Given the description of an element on the screen output the (x, y) to click on. 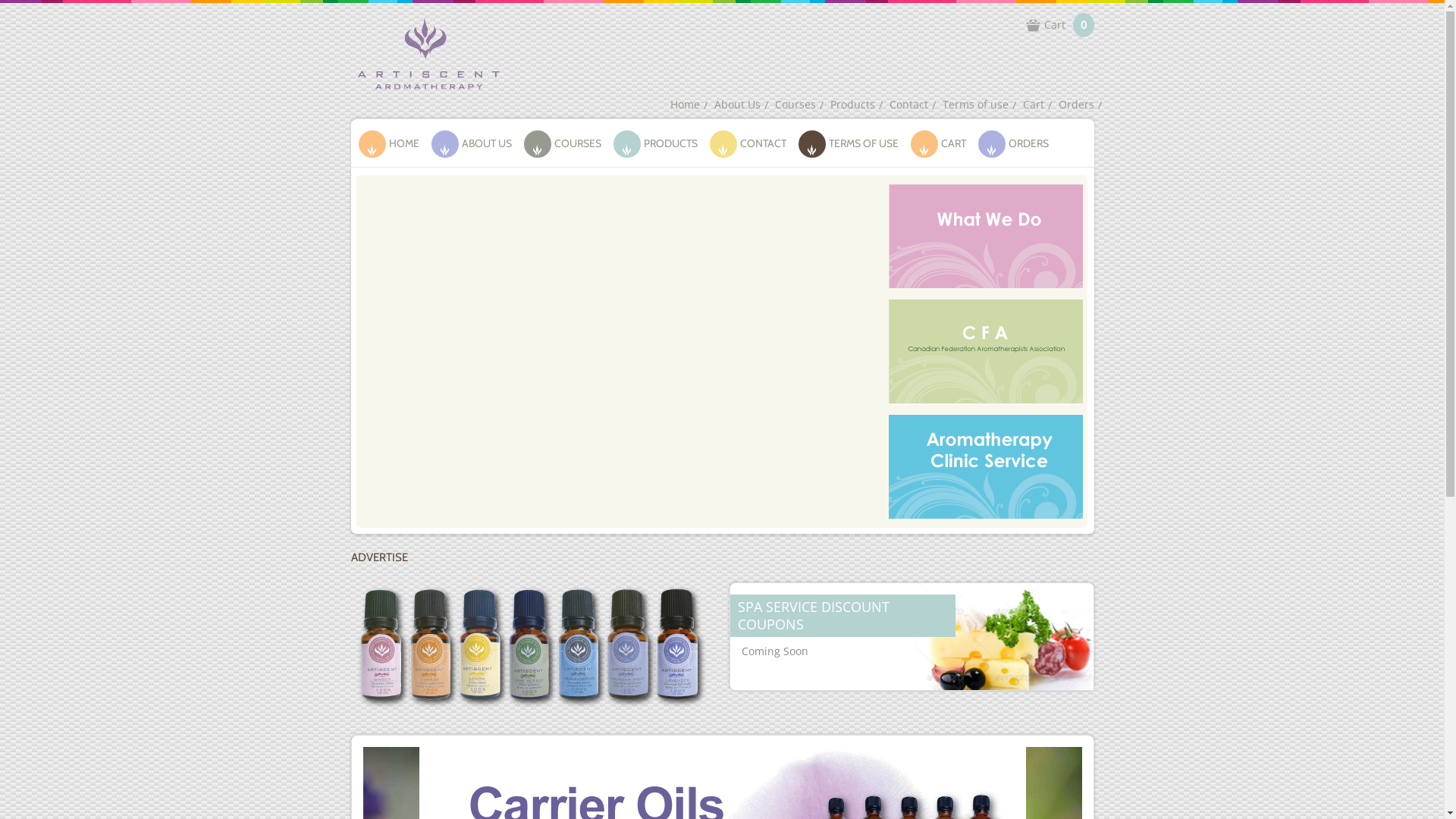
Contact Element type: text (907, 104)
About Us Element type: text (737, 104)
PRODUCTS Element type: text (659, 142)
TERMS OF USE Element type: text (851, 142)
ARTISCENT Element type: hover (426, 50)
Cart
0 Element type: text (1056, 27)
HOME Element type: text (392, 142)
Home Element type: text (684, 104)
COURSES Element type: text (566, 142)
CART Element type: text (942, 142)
Terms of use Element type: text (974, 104)
ORDERS Element type: text (1017, 142)
ABOUT US Element type: text (475, 142)
Essential Oils Element type: hover (531, 658)
Orders Element type: text (1076, 104)
Cart Element type: text (1032, 104)
CONTACT Element type: text (752, 142)
Products Element type: text (851, 104)
Courses Element type: text (795, 104)
Essential Oils Element type: hover (531, 656)
